Given the description of an element on the screen output the (x, y) to click on. 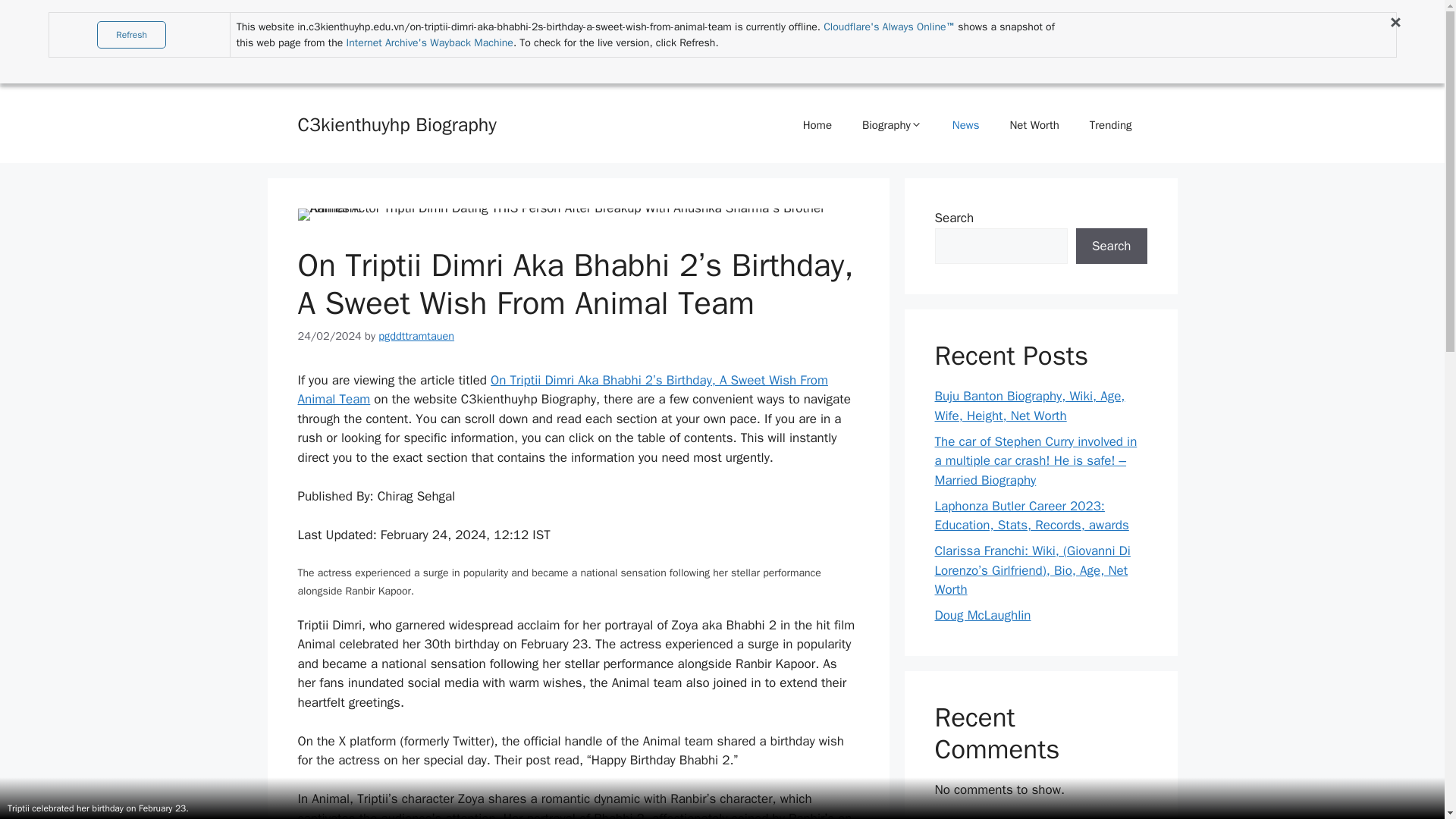
Search (1111, 245)
Biography (892, 125)
pgddttramtauen (416, 336)
Trending (1110, 125)
Home (817, 125)
Buju Banton Biography, Wiki, Age, Wife, Height, Net Worth (1029, 406)
Doug McLaughlin (982, 615)
C3kienthuyhp Biography (396, 124)
View all posts by pgddttramtauen (416, 336)
News (965, 125)
Net Worth (1034, 125)
Refresh (131, 34)
Internet Archive's Wayback Machine (429, 42)
